Given the description of an element on the screen output the (x, y) to click on. 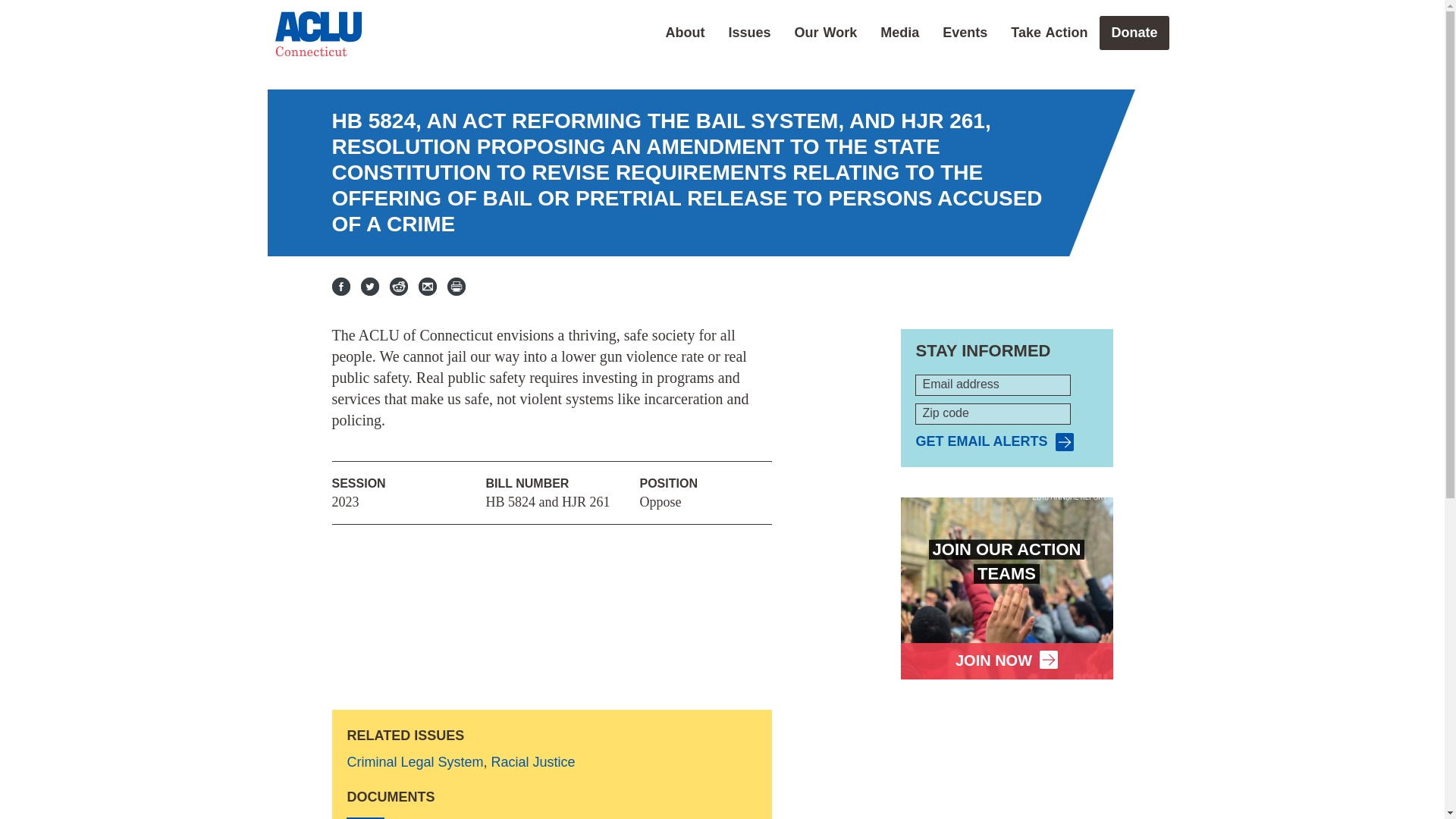
Events (964, 32)
Email this page (427, 286)
Get email alerts (994, 442)
Submit this to Twitter (369, 286)
Take Action (1048, 32)
Submit this to Reddit (398, 286)
ACLU of Connecticut - logo (318, 33)
Donate (1134, 32)
Submit this to Facebook (340, 286)
Facebook (340, 286)
Email address (992, 384)
Zip code (992, 414)
